Given the description of an element on the screen output the (x, y) to click on. 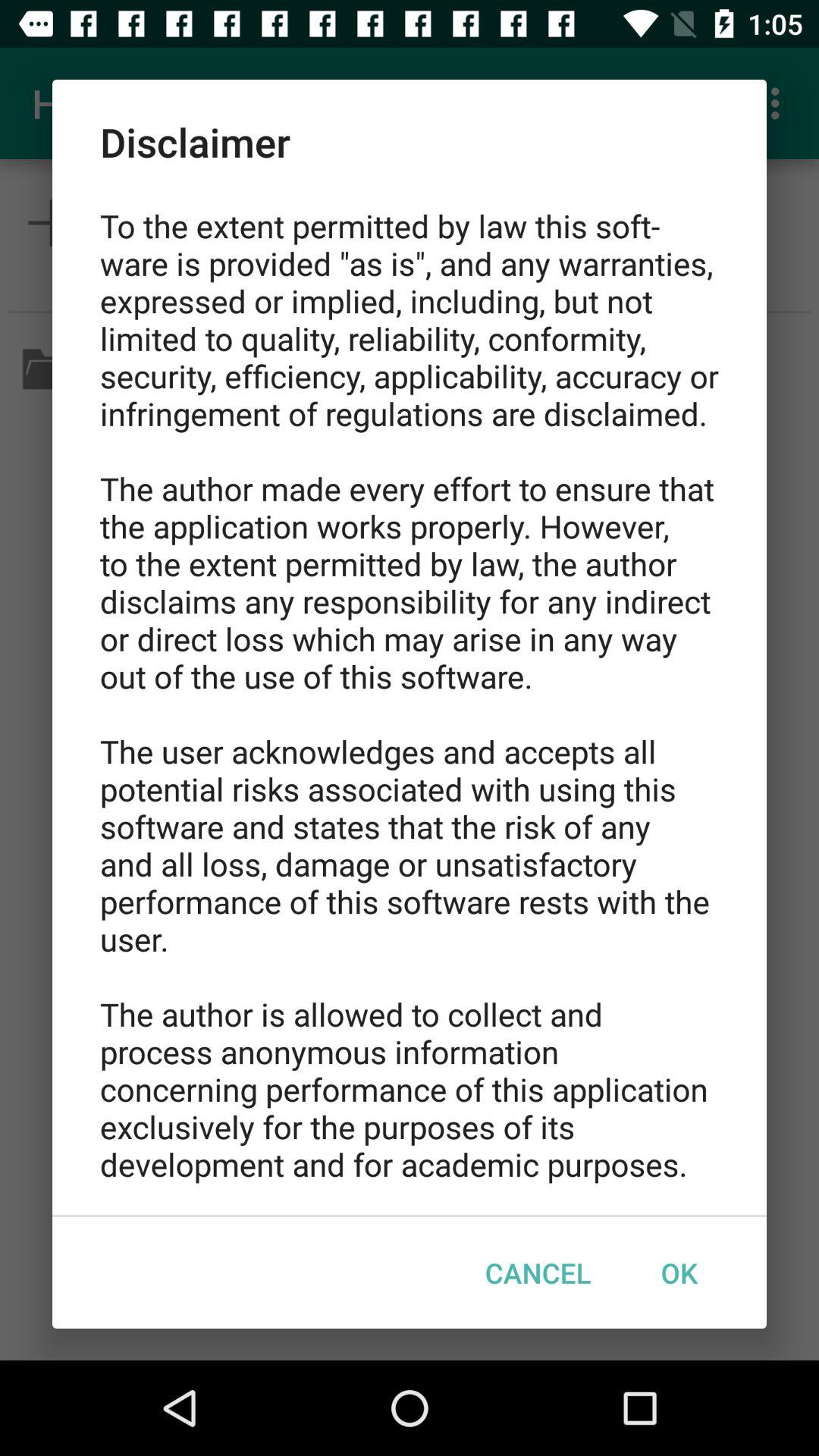
jump to ok icon (678, 1272)
